Given the description of an element on the screen output the (x, y) to click on. 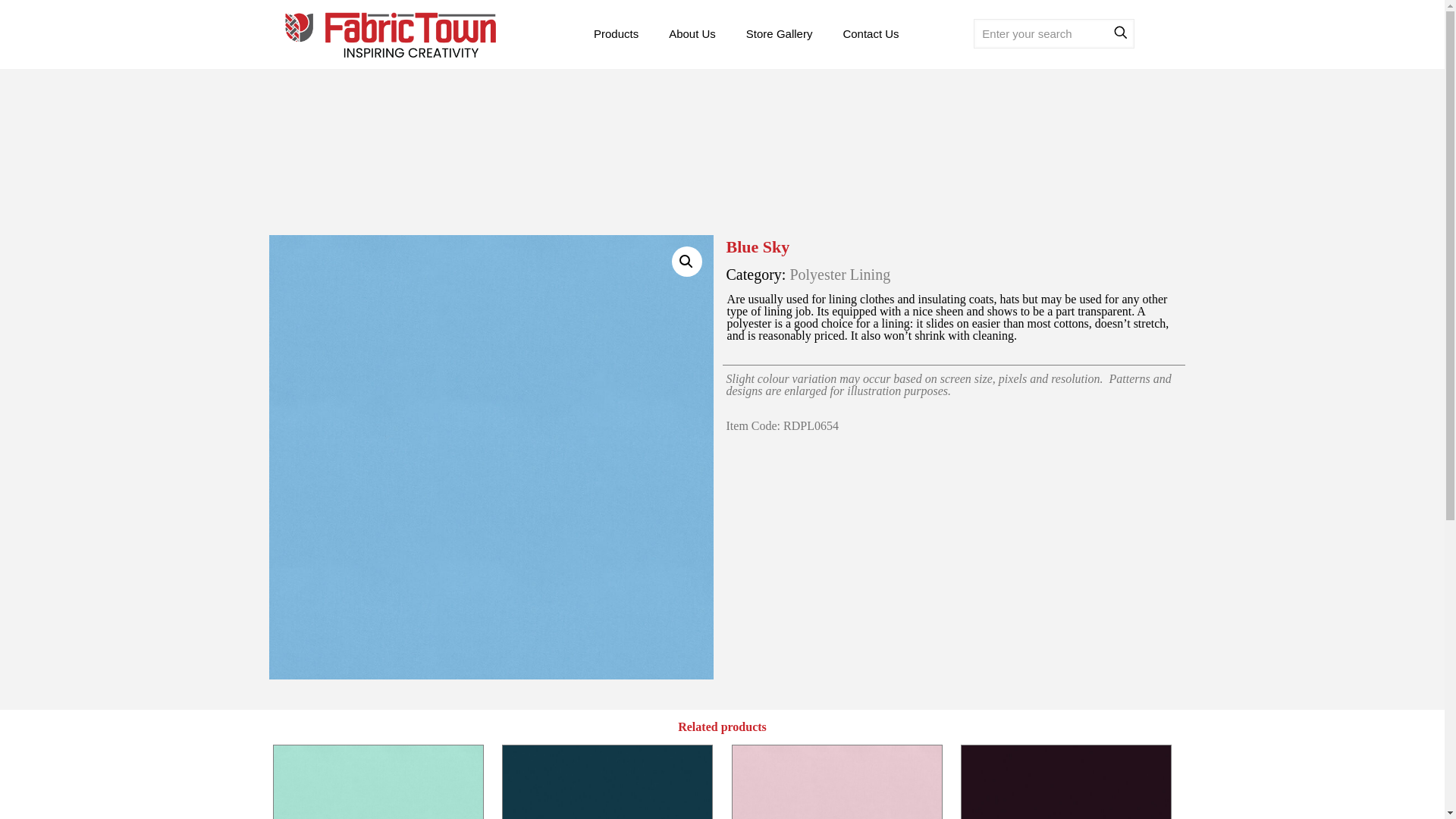
Products (615, 33)
Fabric Town (389, 33)
